Given the description of an element on the screen output the (x, y) to click on. 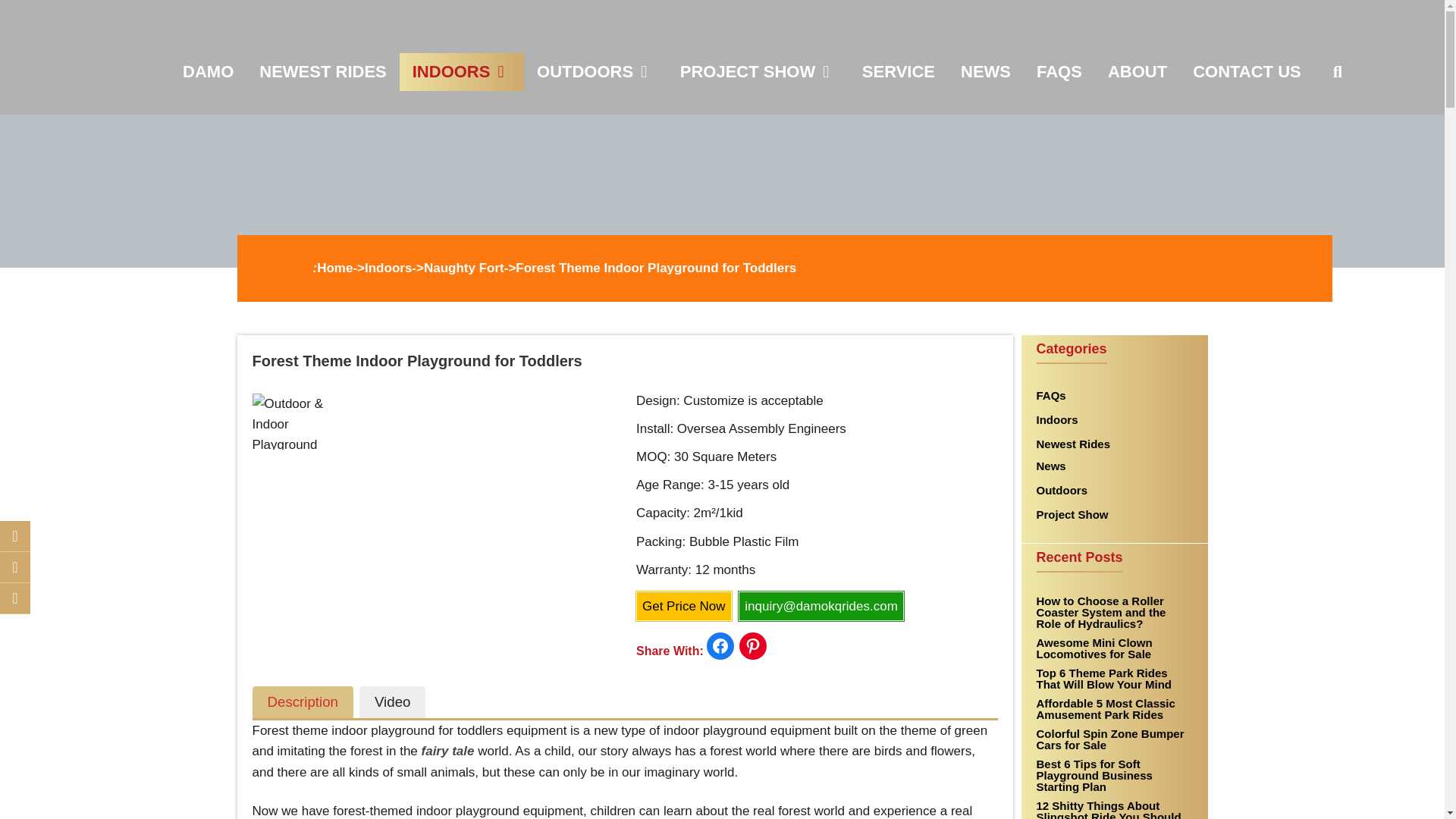
Contact (15, 535)
DAMO (208, 71)
Pinterest (15, 598)
NEWEST RIDES (322, 71)
wpforms-submit (582, 355)
INDOORS (461, 71)
Facebook (15, 567)
